Given the description of an element on the screen output the (x, y) to click on. 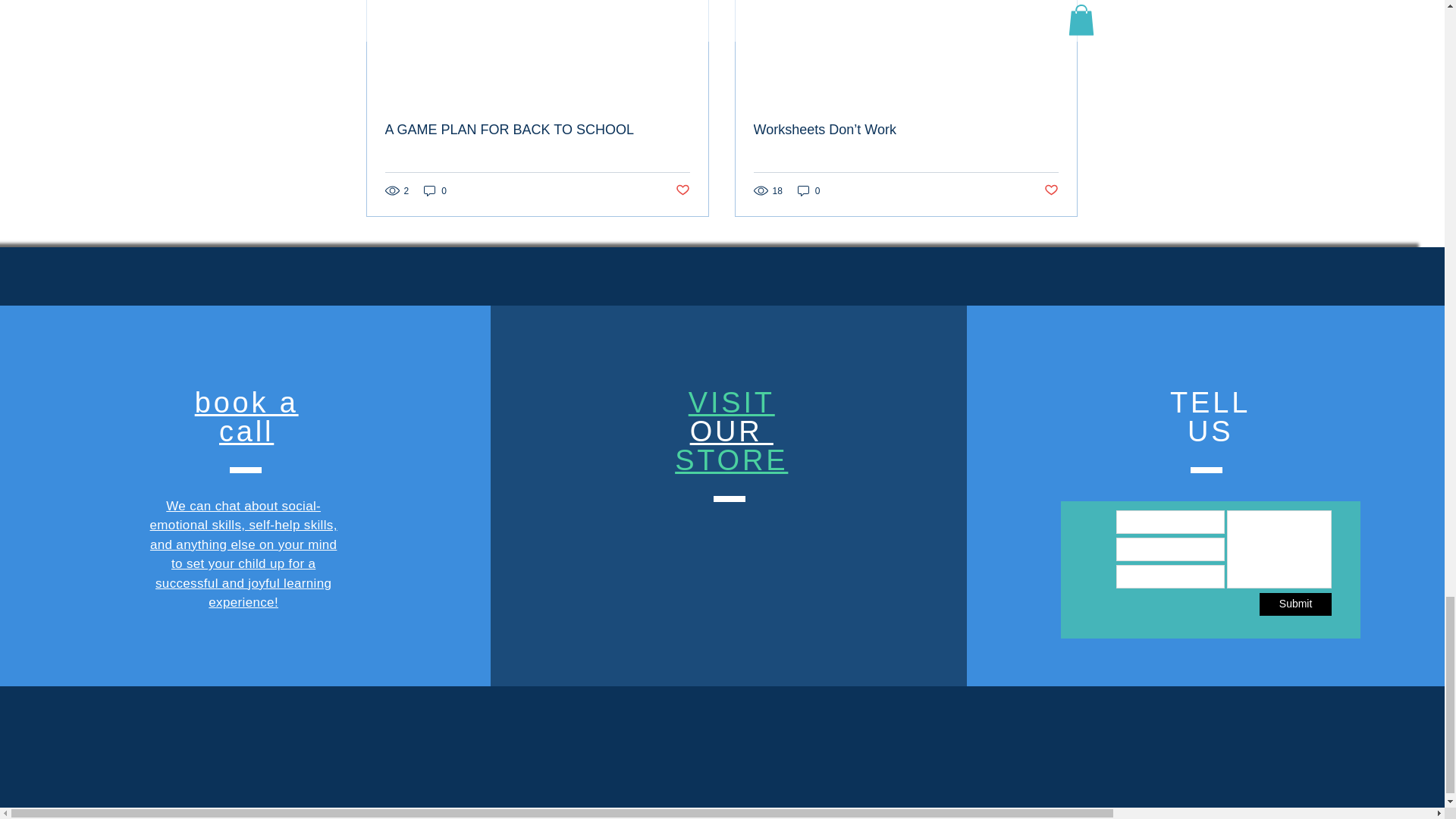
Post not marked as liked (681, 190)
Post not marked as liked (1050, 190)
Submit (246, 416)
0 (1295, 603)
A GAME PLAN FOR BACK TO SCHOOL (809, 190)
0 (731, 430)
